Given the description of an element on the screen output the (x, y) to click on. 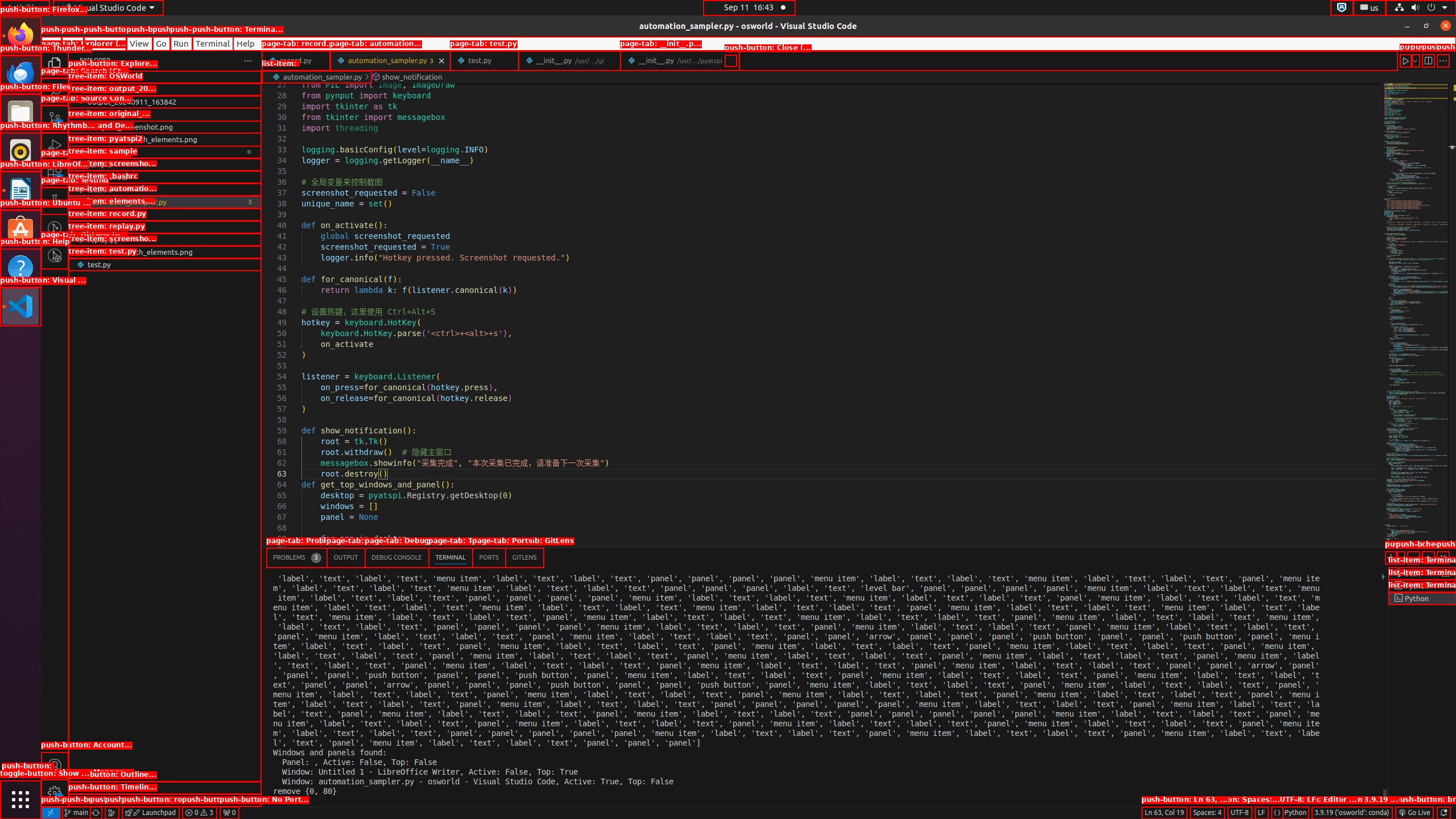
screenshots Element type: tree-item (164, 176)
Terminal 5 Python Element type: list-item (1422, 598)
Edit Element type: push-button (72, 43)
Python Element type: push-button (1295, 812)
